Given the description of an element on the screen output the (x, y) to click on. 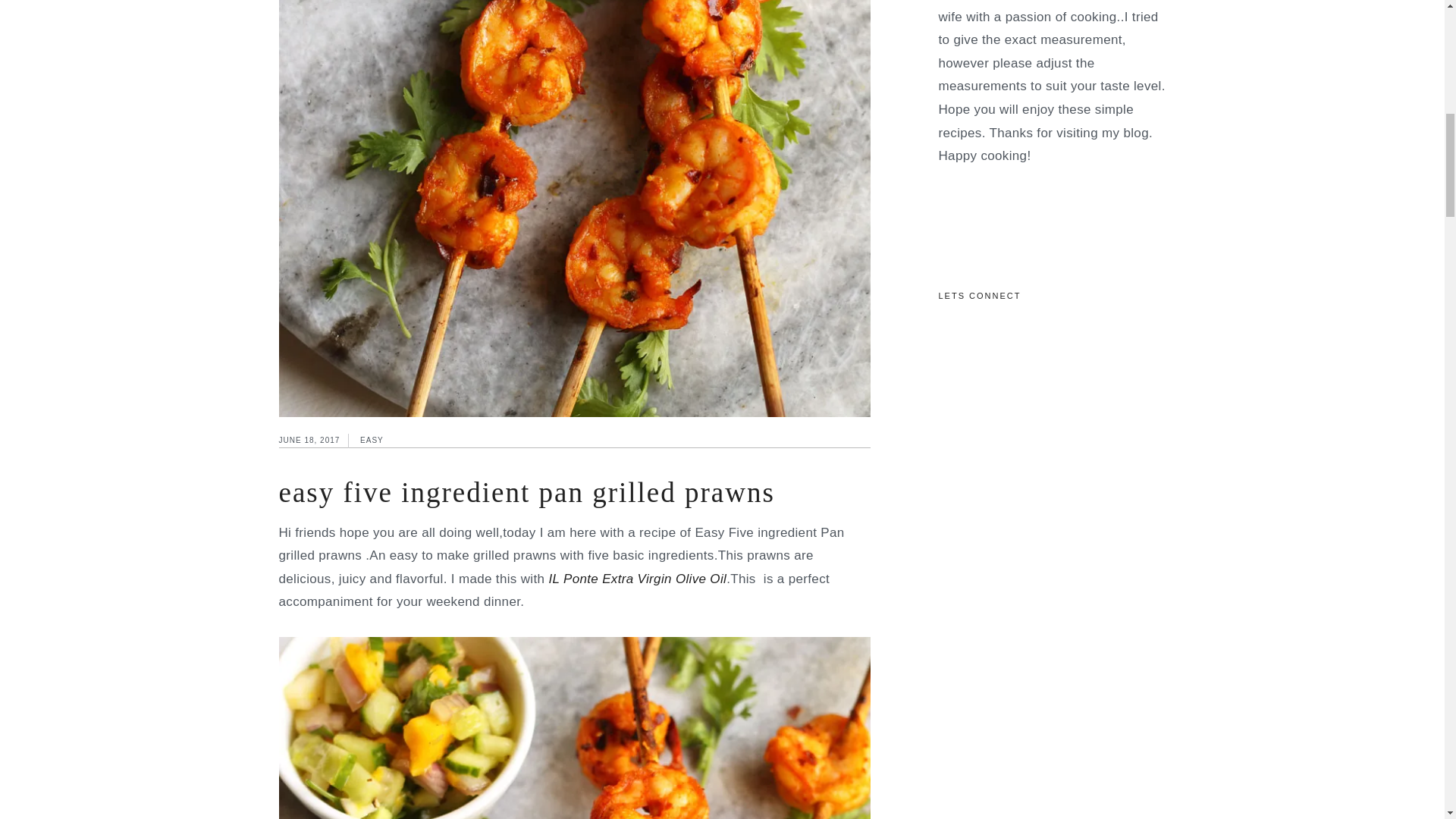
easy five ingredient pan grilled prawns (526, 491)
EASY (371, 439)
IL Ponte Extra Virgin Olive Oil (635, 578)
